Given the description of an element on the screen output the (x, y) to click on. 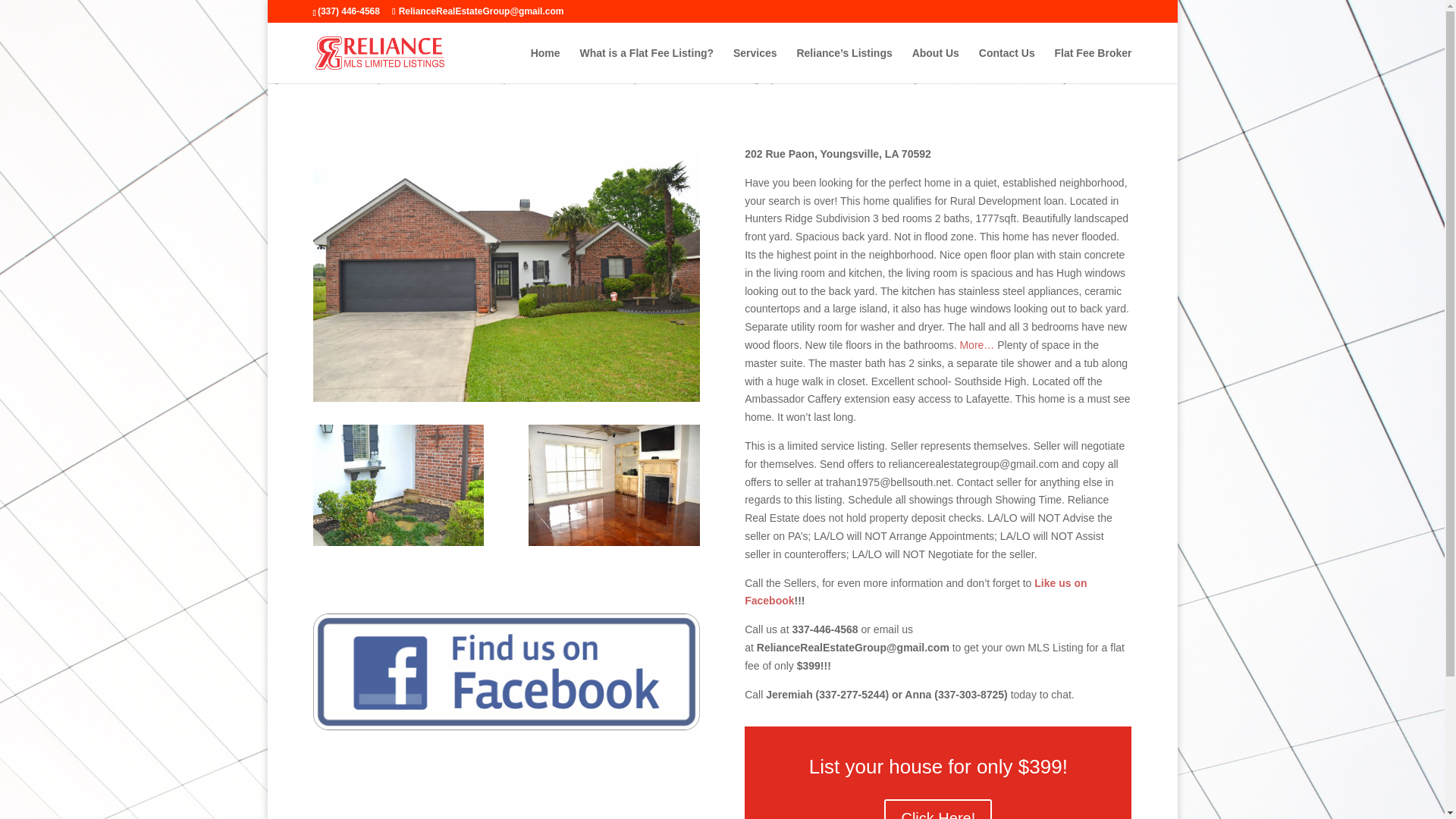
Services (755, 65)
Contact Us (1006, 65)
What is a Flat Fee Listing? (646, 65)
Click Here! (937, 809)
Like us on Facebook (915, 592)
About Us (935, 65)
Flat Fee Broker (1093, 65)
